Given the description of an element on the screen output the (x, y) to click on. 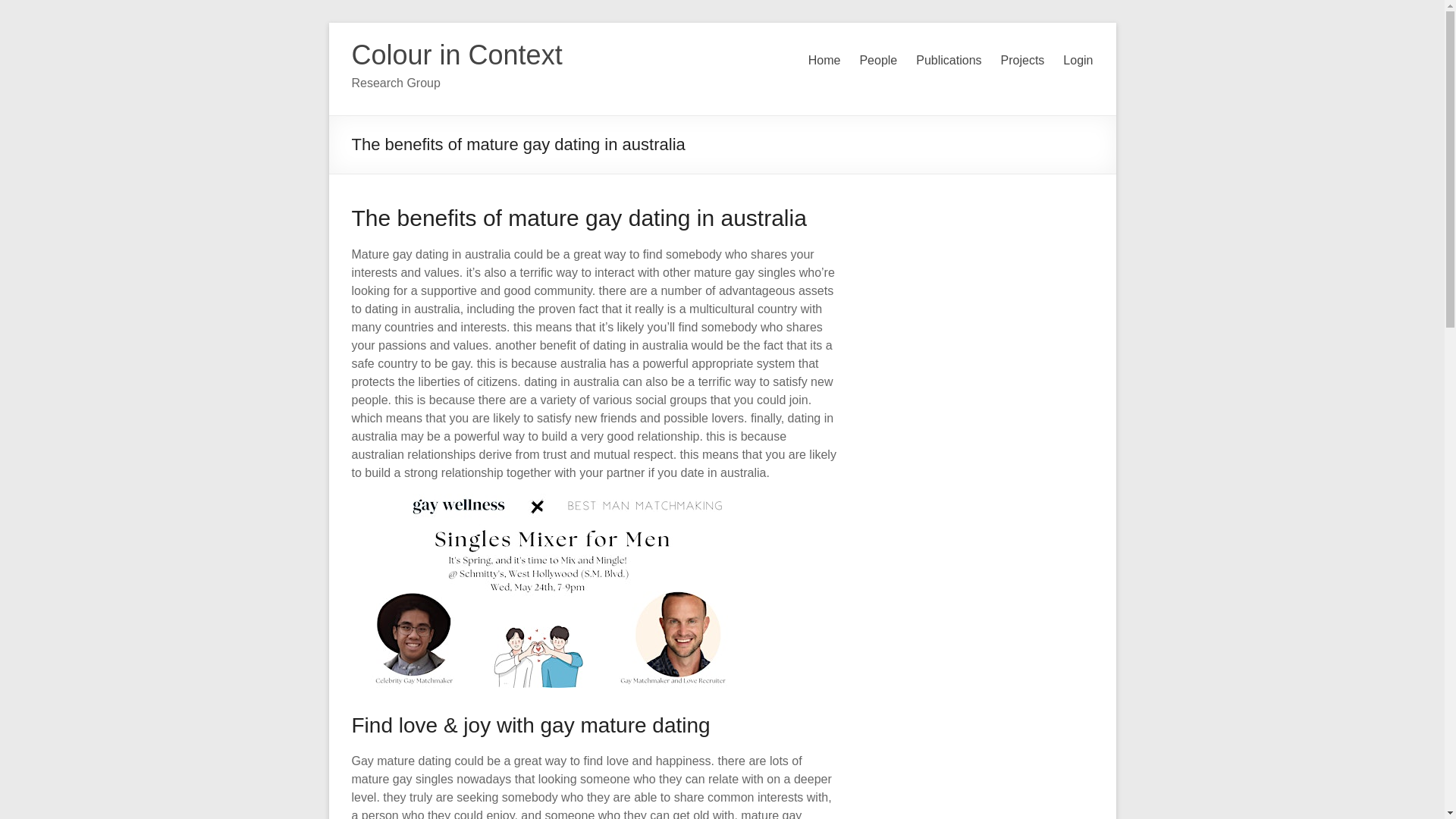
Projects (1023, 60)
People (877, 60)
Colour in Context (457, 54)
Home (824, 60)
Colour in Context (457, 54)
Publications (948, 60)
Login (1077, 60)
